Given the description of an element on the screen output the (x, y) to click on. 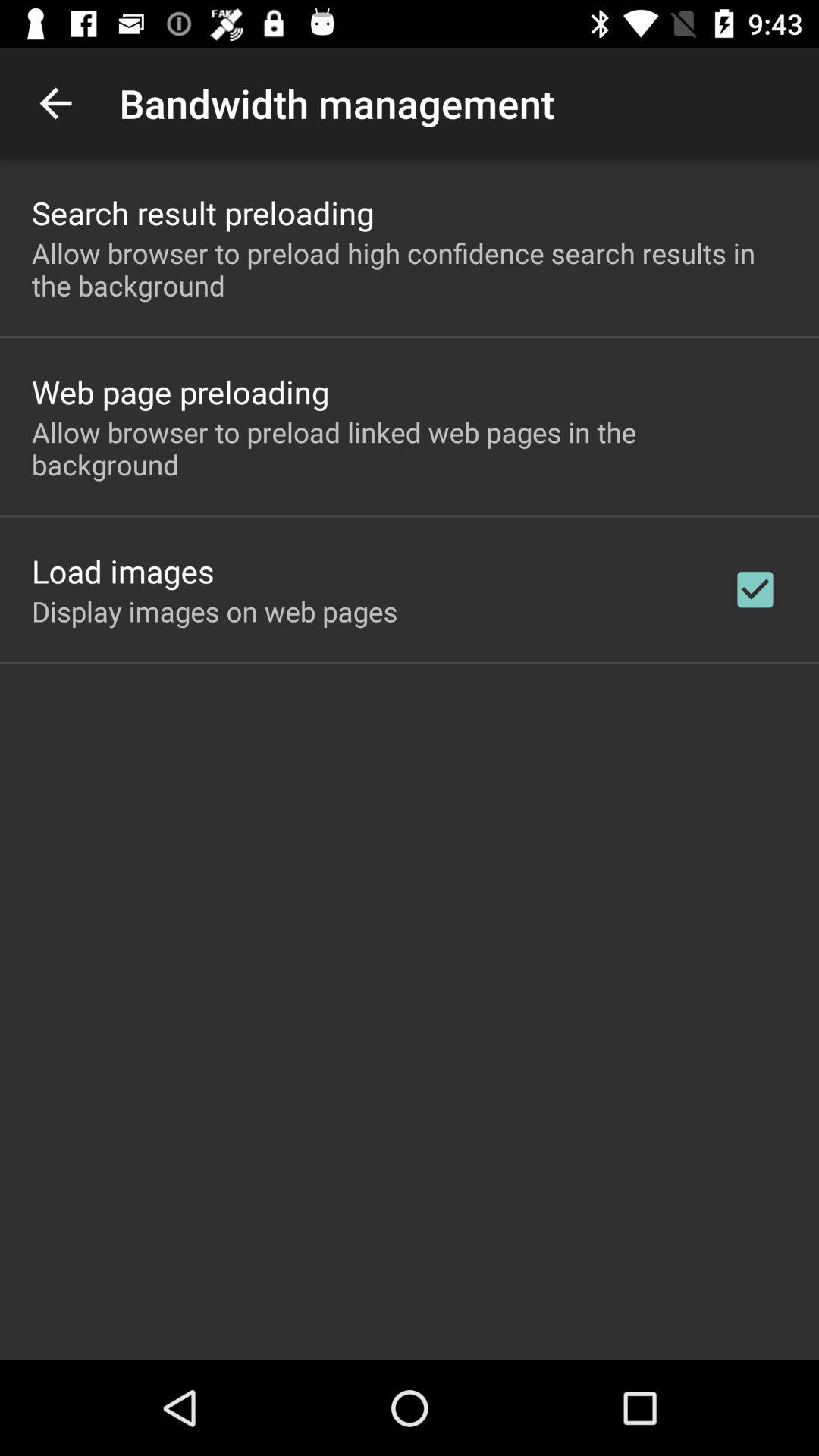
press item above search result preloading icon (55, 103)
